Given the description of an element on the screen output the (x, y) to click on. 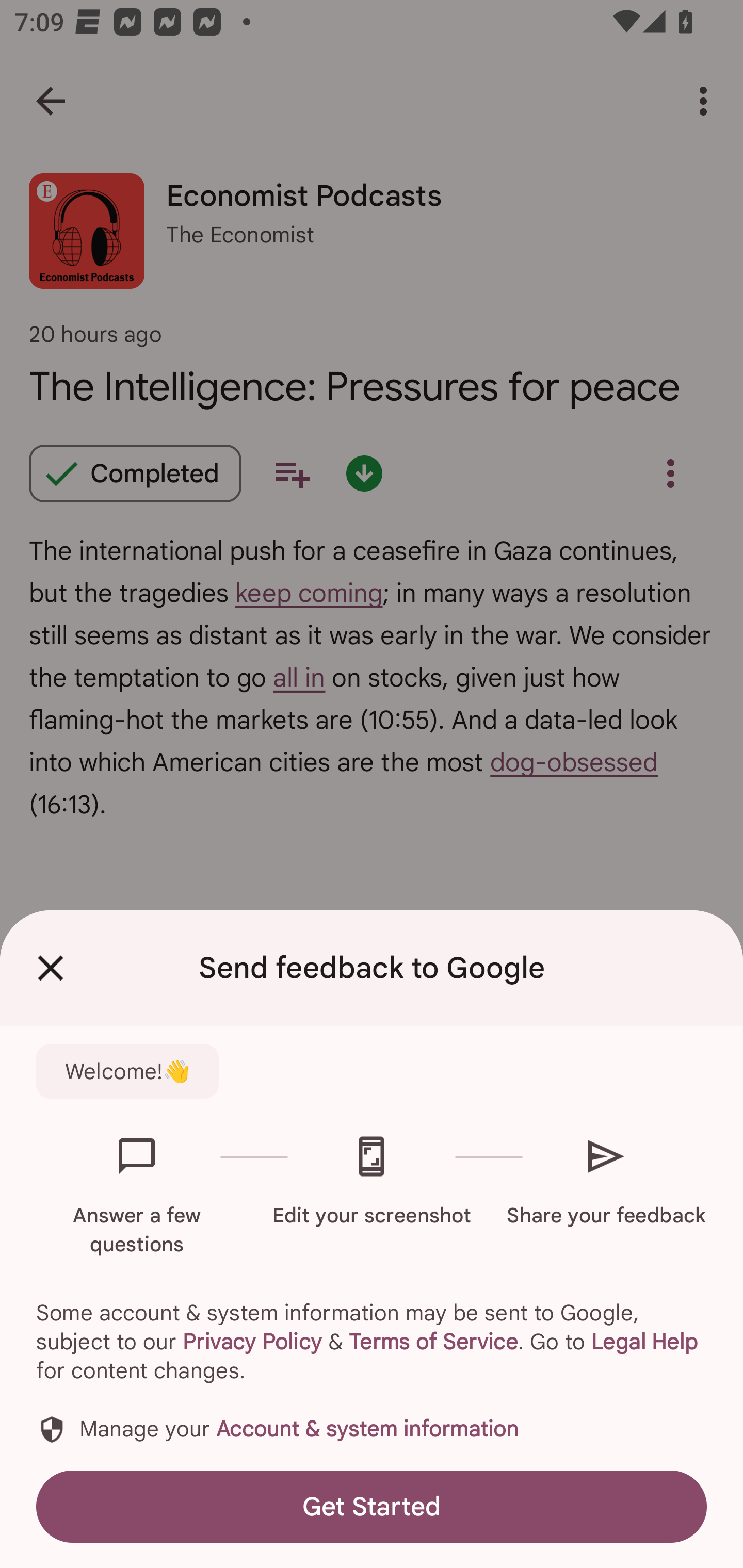
Close Feedback (50, 968)
Get Started (371, 1505)
